Given the description of an element on the screen output the (x, y) to click on. 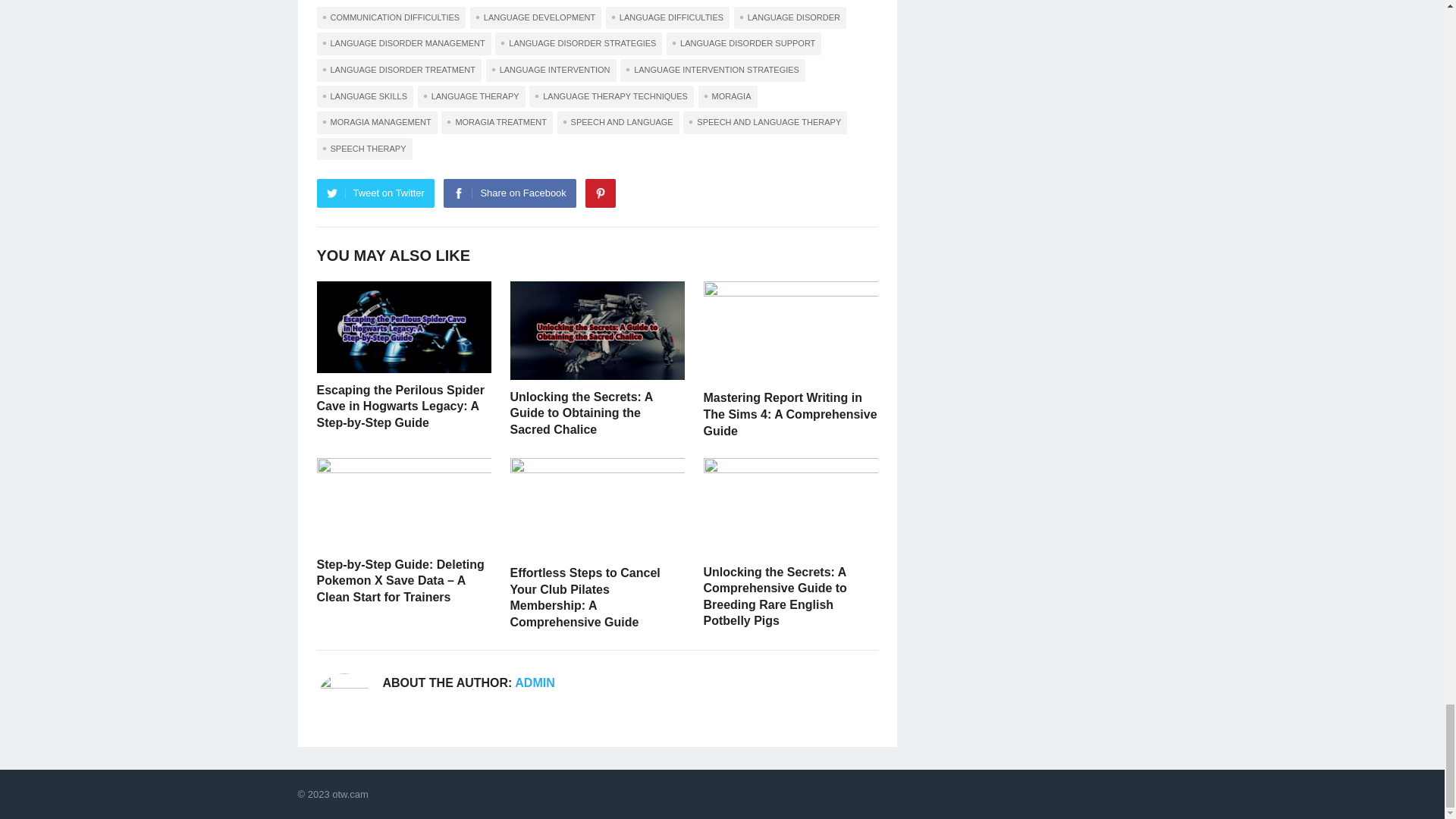
COMMUNICATION DIFFICULTIES (391, 17)
Share on Facebook (509, 193)
SPEECH THERAPY (364, 149)
LANGUAGE DISORDER TREATMENT (399, 69)
LANGUAGE INTERVENTION (550, 69)
SPEECH AND LANGUAGE THERAPY (764, 122)
LANGUAGE DIFFICULTIES (667, 17)
MORAGIA (727, 96)
LANGUAGE INTERVENTION STRATEGIES (712, 69)
MORAGIA TREATMENT (497, 122)
LANGUAGE DISORDER SUPPORT (743, 43)
LANGUAGE DISORDER STRATEGIES (578, 43)
LANGUAGE DEVELOPMENT (535, 17)
LANGUAGE SKILLS (365, 96)
Tweet on Twitter (375, 193)
